Given the description of an element on the screen output the (x, y) to click on. 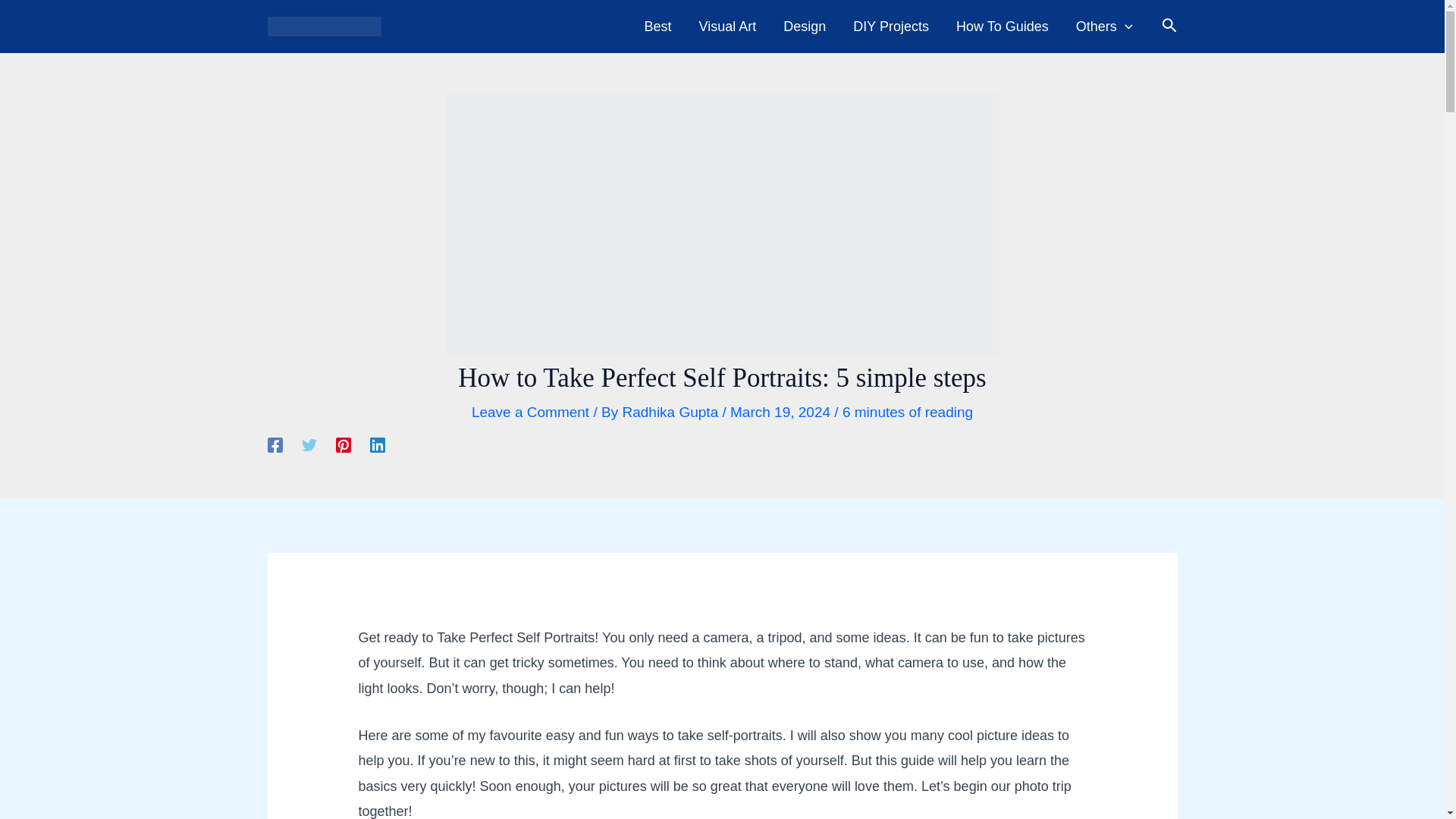
Radhika Gupta (671, 412)
View all posts by Radhika Gupta (671, 412)
Visual Art (727, 26)
Best (657, 26)
How To Guides (1002, 26)
Others (1104, 26)
Design (805, 26)
DIY Projects (891, 26)
Leave a Comment (530, 412)
